Given the description of an element on the screen output the (x, y) to click on. 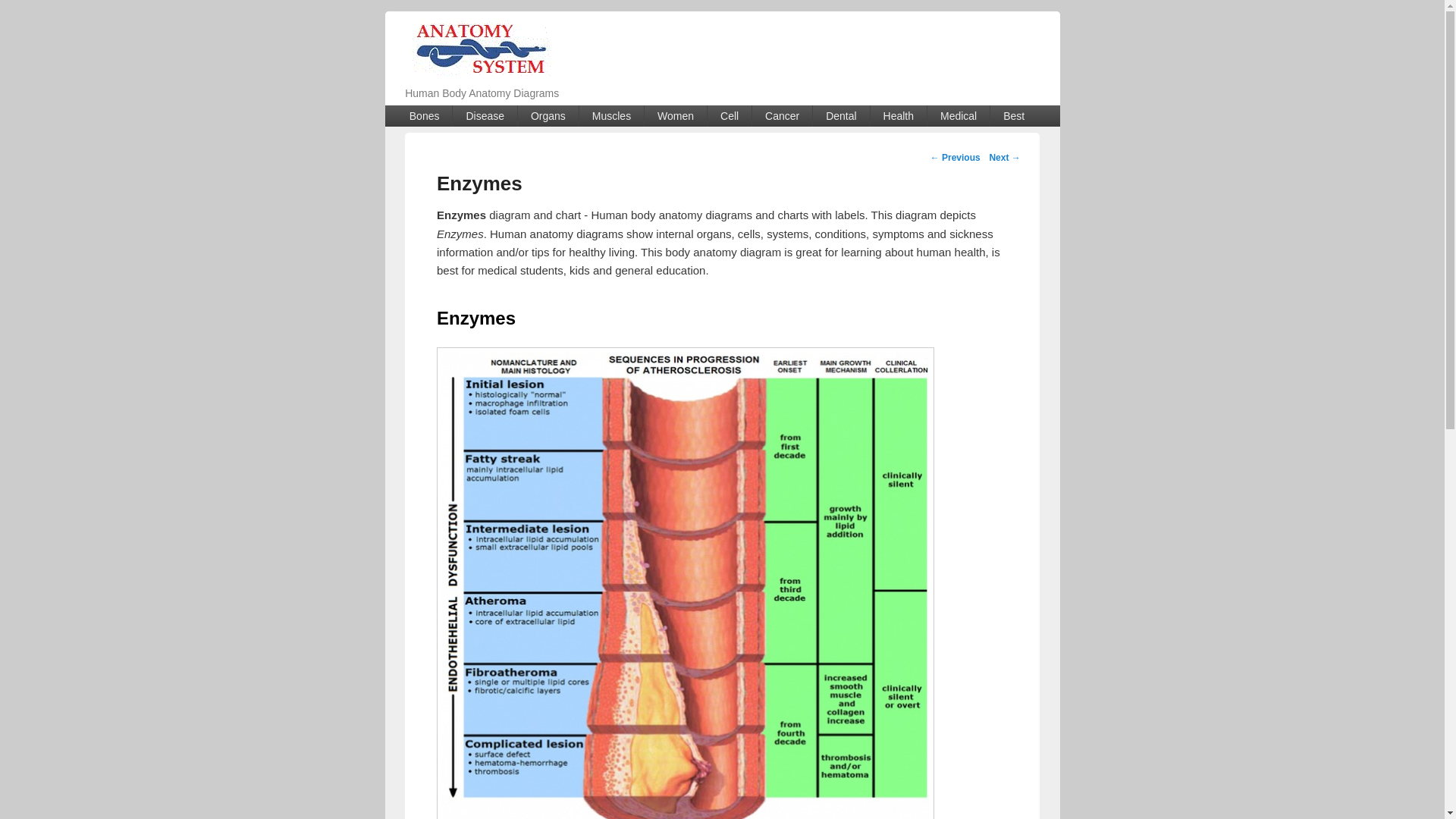
Skip to primary content (462, 114)
Muscles (611, 115)
Cell (729, 115)
Medical (958, 115)
Organs (548, 115)
Skip to secondary content (469, 114)
Best (1013, 115)
Women (675, 115)
Dental (840, 115)
Bones (424, 115)
